Given the description of an element on the screen output the (x, y) to click on. 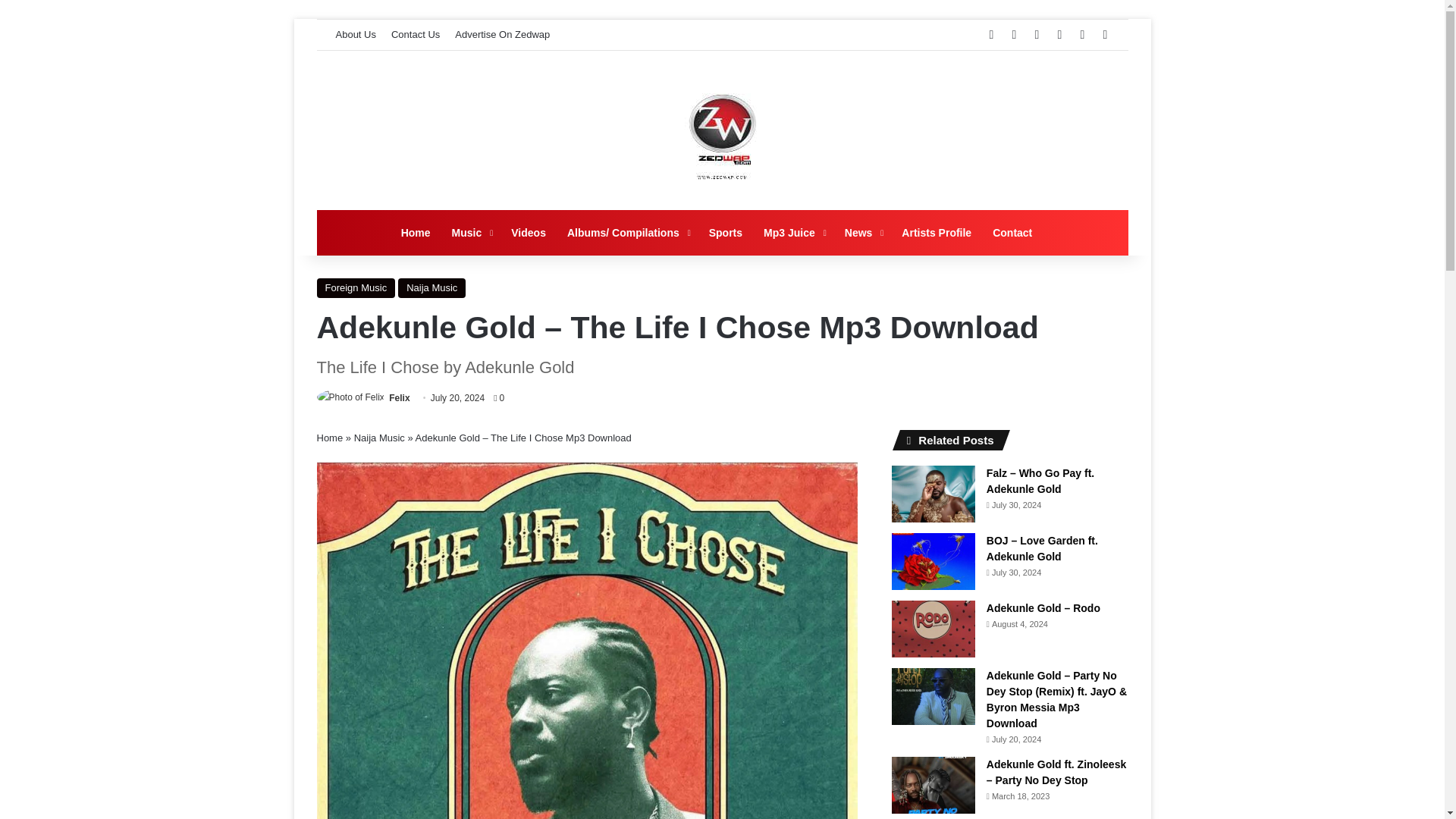
Music (470, 232)
About Us (354, 34)
Sports (725, 232)
Felix (398, 398)
Videos (528, 232)
Mp3 Juice (793, 232)
Advertise On Zedwap (501, 34)
Foreign Music (356, 288)
Home (330, 437)
Contact (1011, 232)
Artists Profile (936, 232)
Contact Us (415, 34)
Felix (398, 398)
Naija Music (378, 437)
Zedwap.com (721, 130)
